Given the description of an element on the screen output the (x, y) to click on. 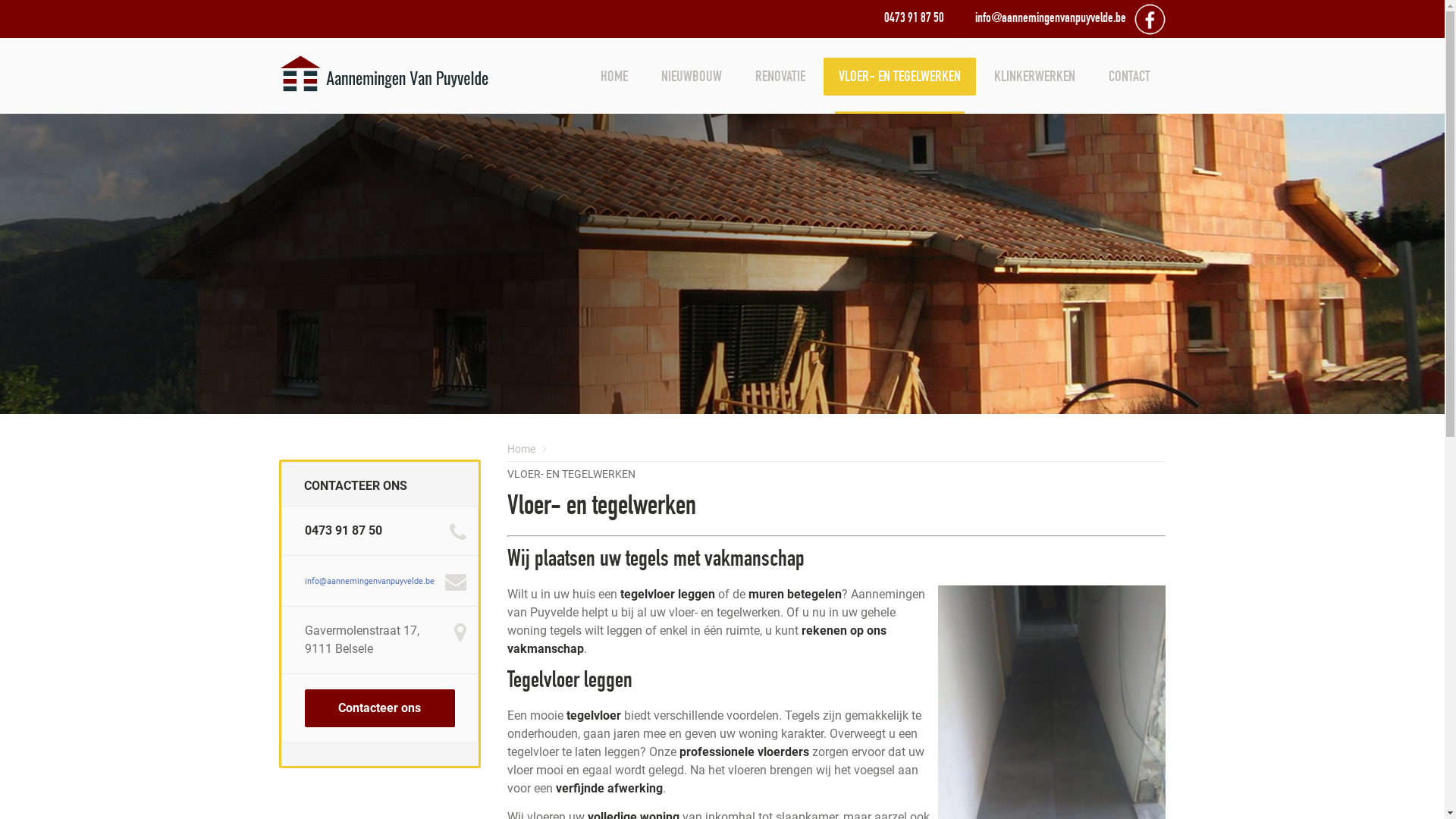
CONTACT Element type: text (1129, 76)
info@aannemingenvanpuyvelde.be Element type: text (369, 581)
Contacteer ons Element type: text (379, 708)
KLINKERWERKEN Element type: text (1034, 76)
Home Element type: text (521, 448)
0473 91 87 50 Element type: text (914, 18)
NIEUWBOUW Element type: text (691, 76)
RENOVATIE Element type: text (780, 76)
VLOER- EN TEGELWERKEN Element type: text (571, 473)
HOME Element type: text (614, 76)
VLOER- EN TEGELWERKEN Element type: text (899, 76)
info@aannemingenvanpuyvelde.be Element type: text (1050, 18)
